Given the description of an element on the screen output the (x, y) to click on. 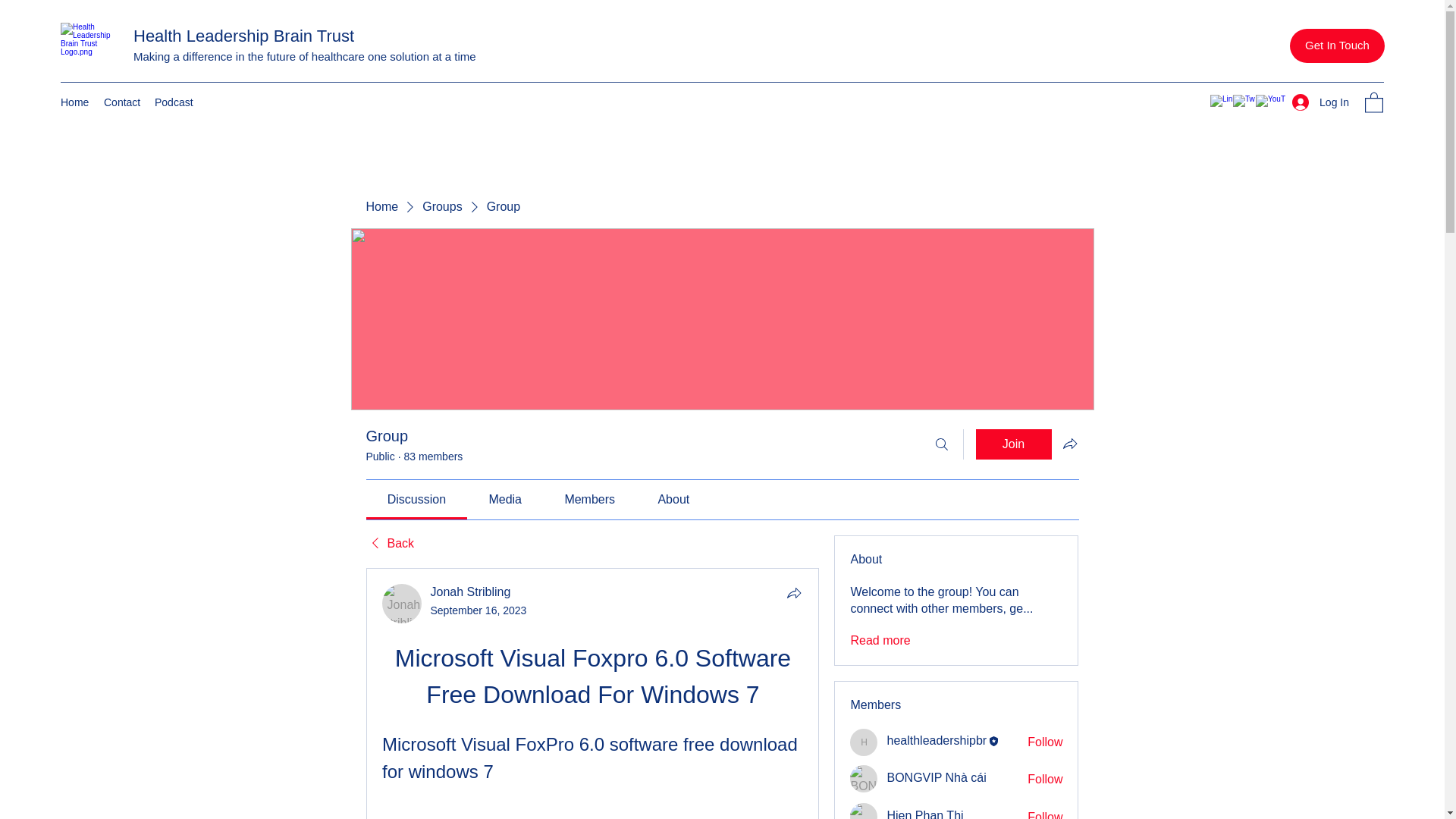
Jonah Stribling (401, 603)
Home (381, 207)
healthleadershipbr (863, 741)
Back (389, 543)
Home (74, 101)
Follow (1044, 814)
healthleadershipbr (936, 739)
Podcast (173, 101)
Read more (880, 640)
Follow (1044, 779)
Groups (441, 207)
Contact (121, 101)
Health Leadership Brain Trust (243, 35)
Log In (1320, 102)
Join (1013, 444)
